Given the description of an element on the screen output the (x, y) to click on. 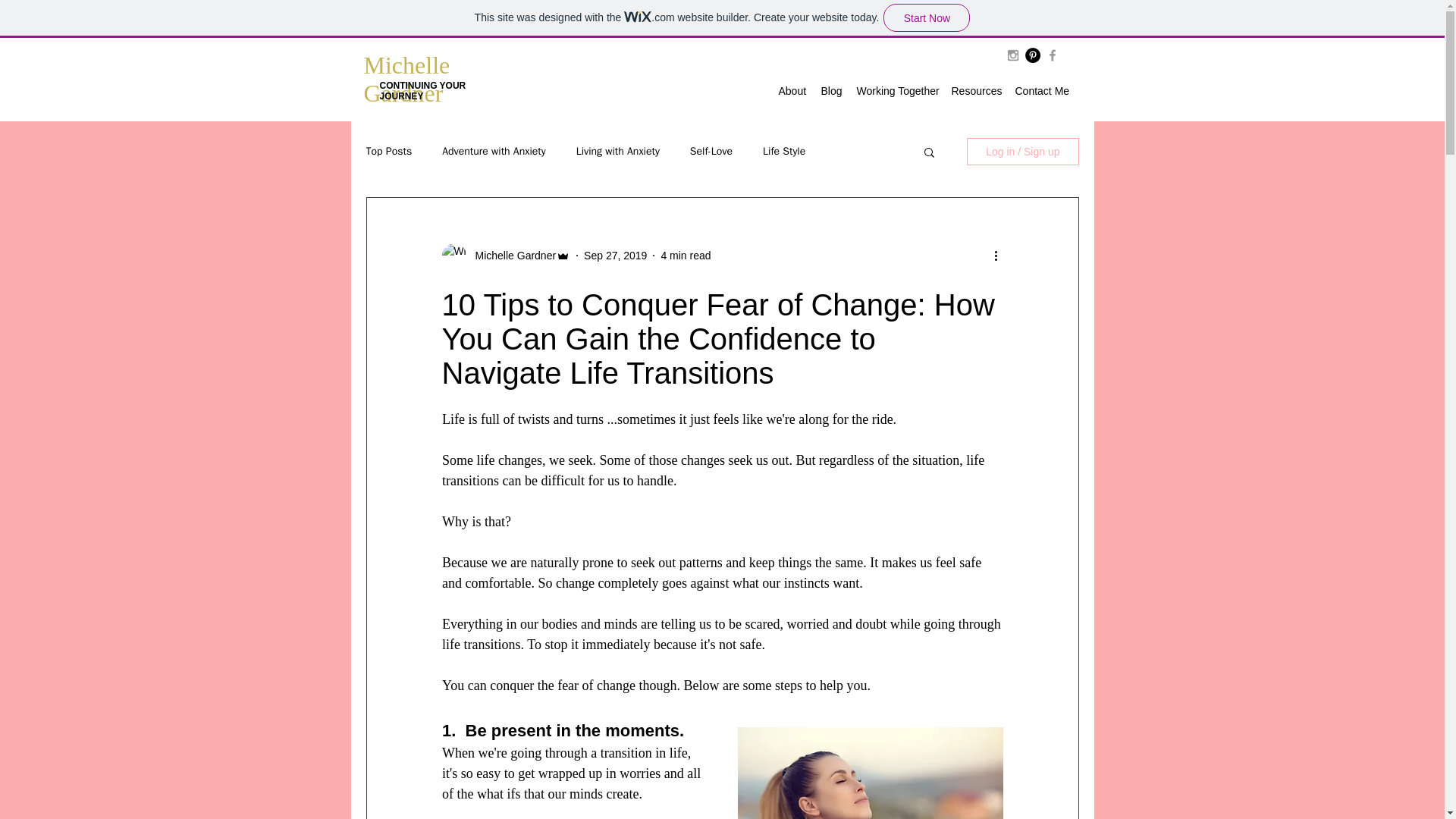
Working Together (895, 91)
Contact Me (1040, 91)
Self-Love (711, 151)
About (791, 91)
Michelle Gardner (510, 254)
Michelle Gardner (406, 79)
Blog (830, 91)
Resources (975, 91)
Sep 27, 2019 (614, 254)
Adventure with Anxiety (493, 151)
CONTINUING YOUR JOURNEY (421, 90)
Living with Anxiety (617, 151)
Top Posts (388, 151)
Life Style (783, 151)
4 min read (685, 254)
